Given the description of an element on the screen output the (x, y) to click on. 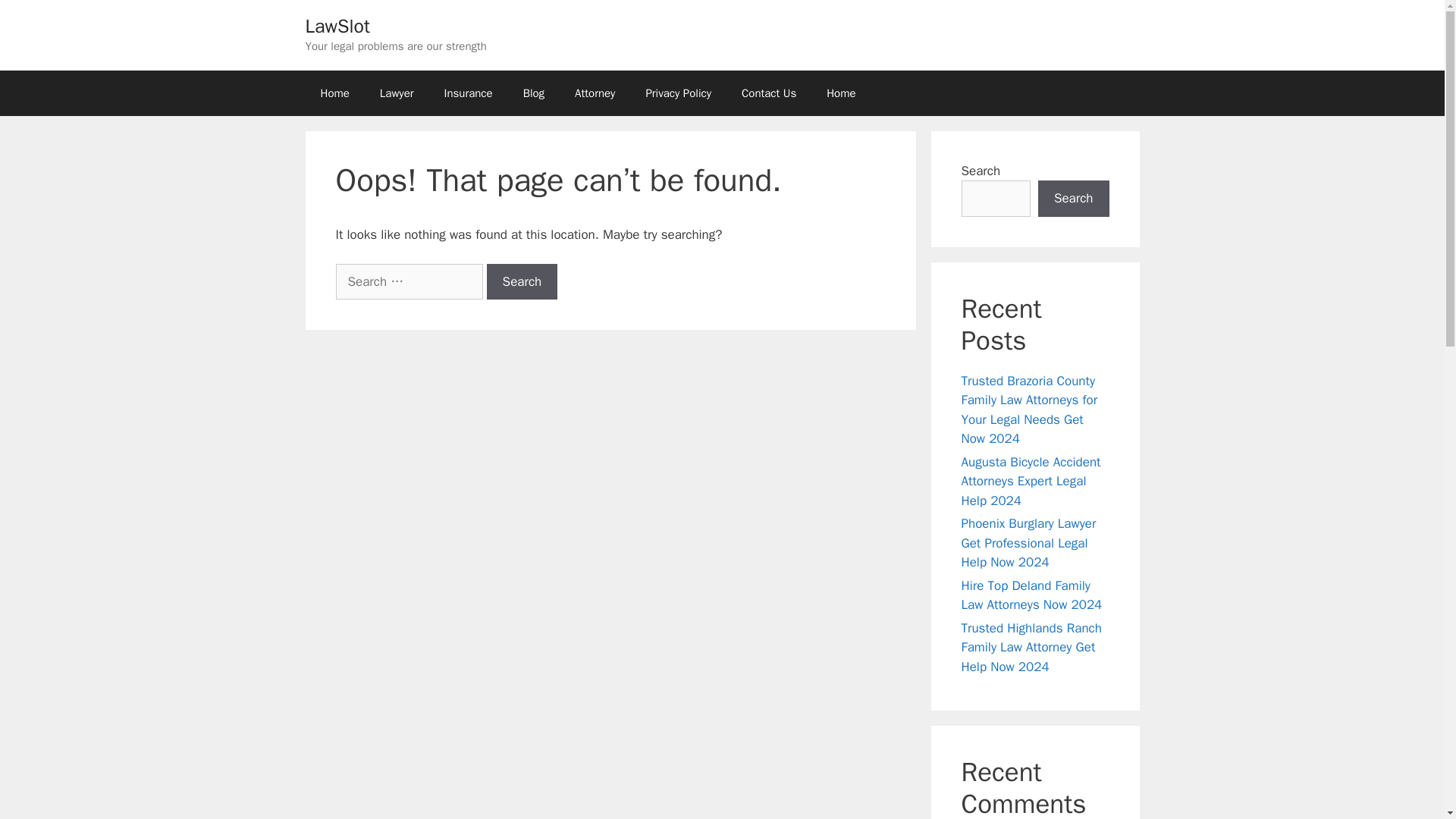
Search (1073, 198)
Search (521, 281)
Attorney (594, 92)
Contact Us (768, 92)
Insurance (468, 92)
Privacy Policy (678, 92)
Blog (533, 92)
Search for: (407, 281)
Search (521, 281)
LawSlot (336, 25)
Lawyer (397, 92)
Home (334, 92)
Hire Top Deland Family Law Attorneys Now 2024 (1031, 595)
Phoenix Burglary Lawyer Get Professional Legal Help Now 2024 (1028, 542)
